Given the description of an element on the screen output the (x, y) to click on. 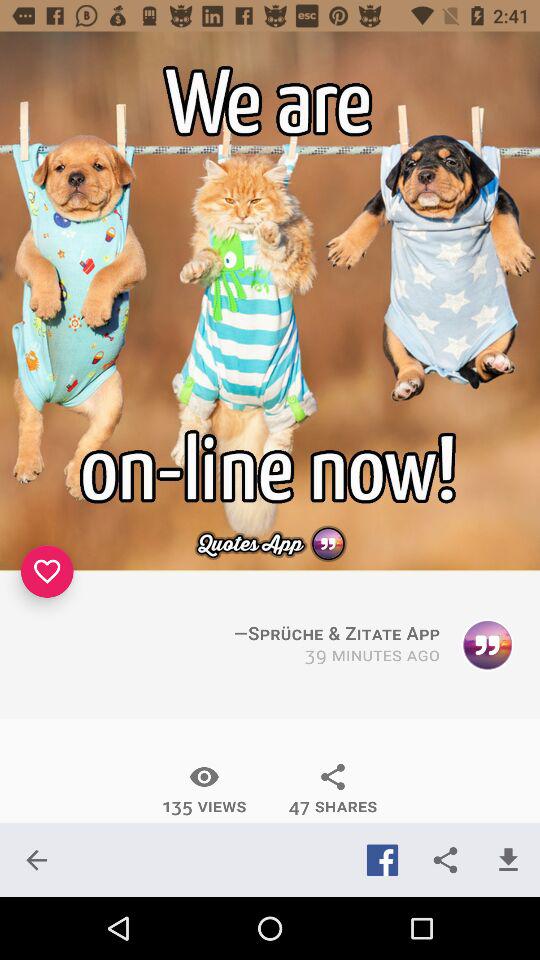
click item at the bottom left corner (36, 859)
